Given the description of an element on the screen output the (x, y) to click on. 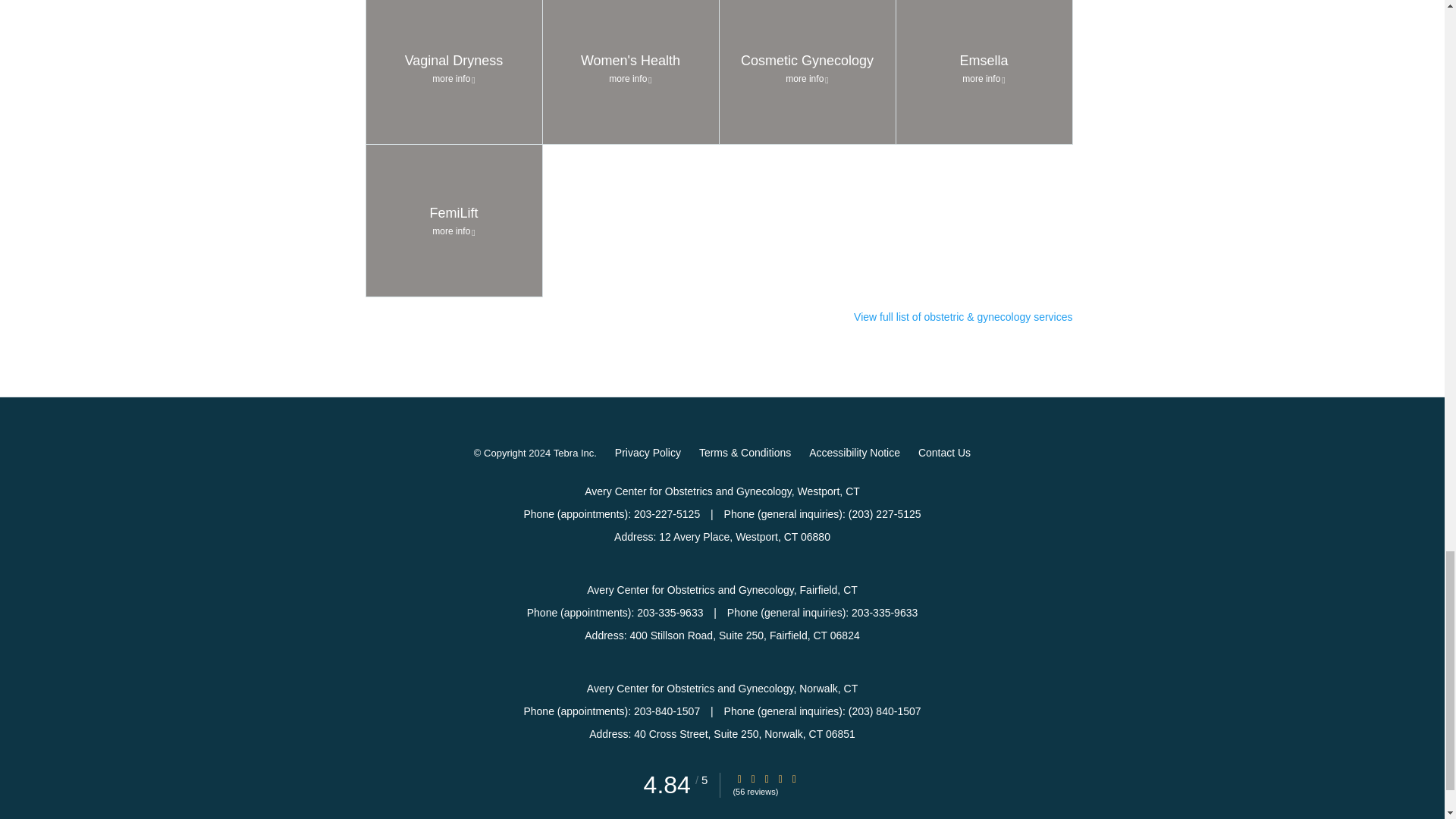
Star Rating (738, 778)
Star Rating (794, 778)
Star Rating (453, 72)
Star Rating (780, 778)
Star Rating (753, 778)
